Given the description of an element on the screen output the (x, y) to click on. 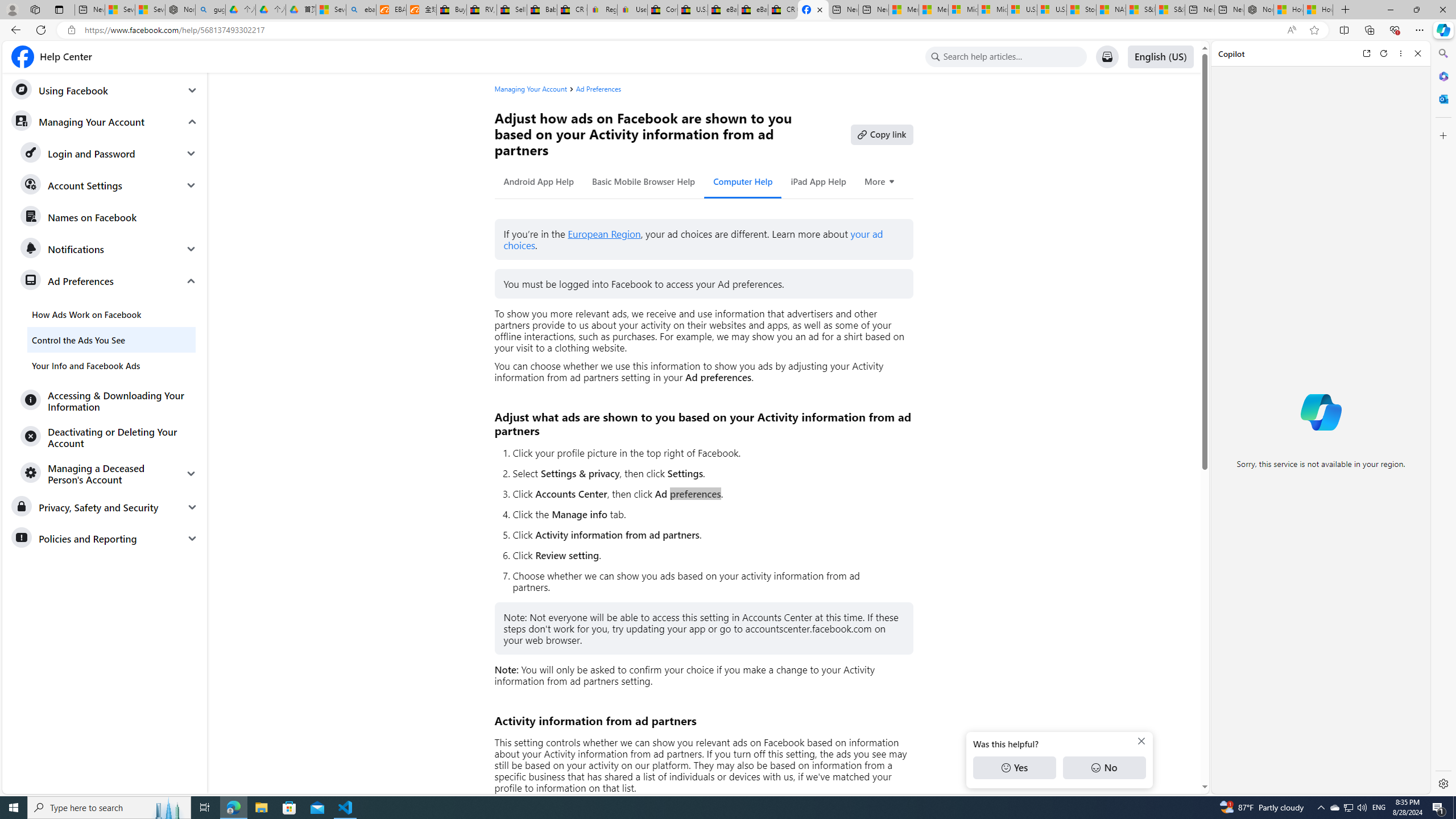
Names on Facebook (109, 217)
App bar (728, 29)
Open link in new tab (1366, 53)
Microsoft 365 (1442, 76)
Copy link (881, 133)
Account Settings (108, 185)
Managing a Deceased Person's Account (108, 473)
Support Inbox (1106, 56)
Policies and Reporting (104, 538)
Names on Facebook (108, 217)
Click your profile picture in the top right of Facebook. (707, 452)
guge yunpan - Search (210, 9)
